Given the description of an element on the screen output the (x, y) to click on. 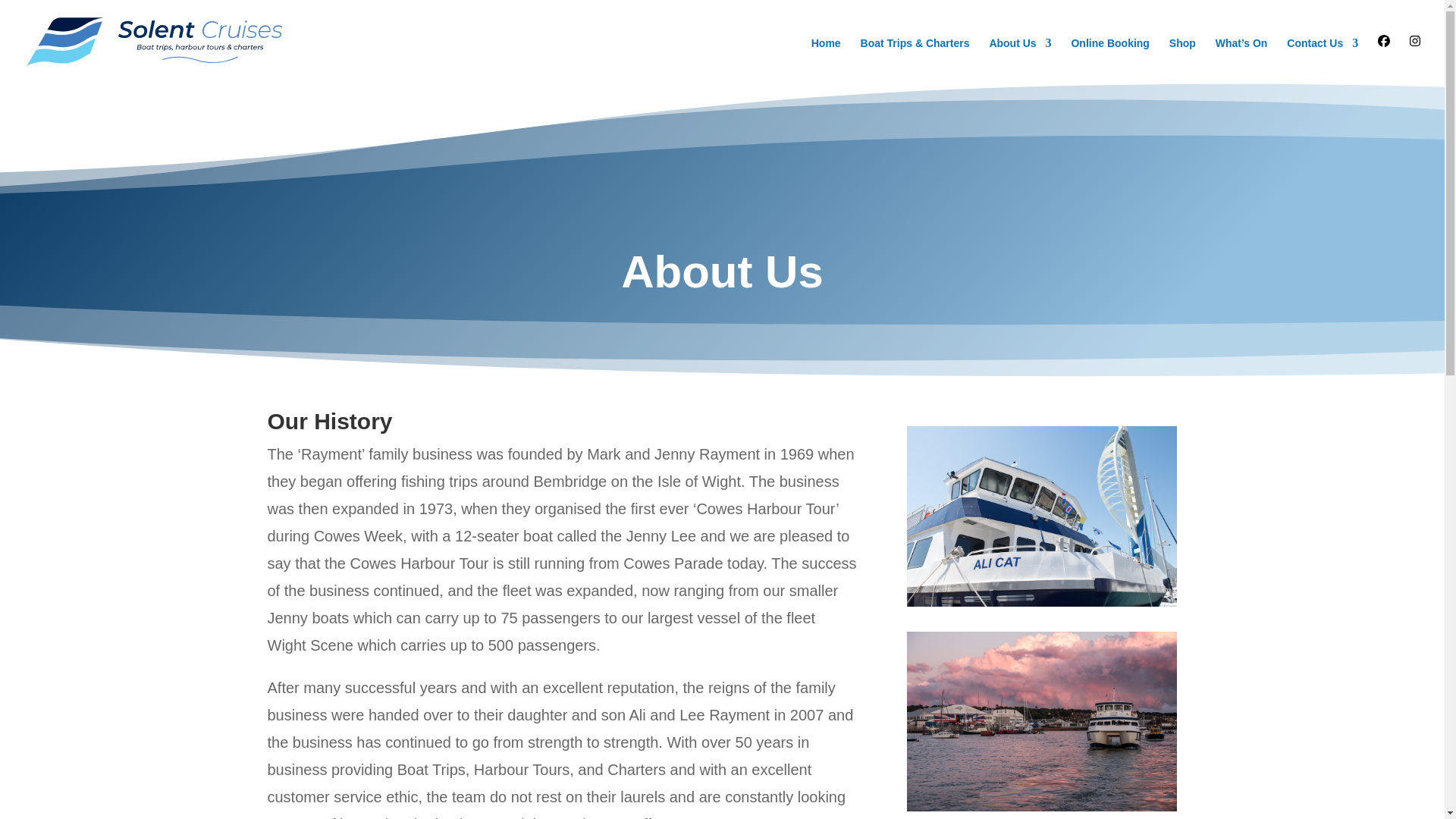
Online Booking (1109, 60)
Contact Us (1322, 60)
About Us (1019, 60)
